Given the description of an element on the screen output the (x, y) to click on. 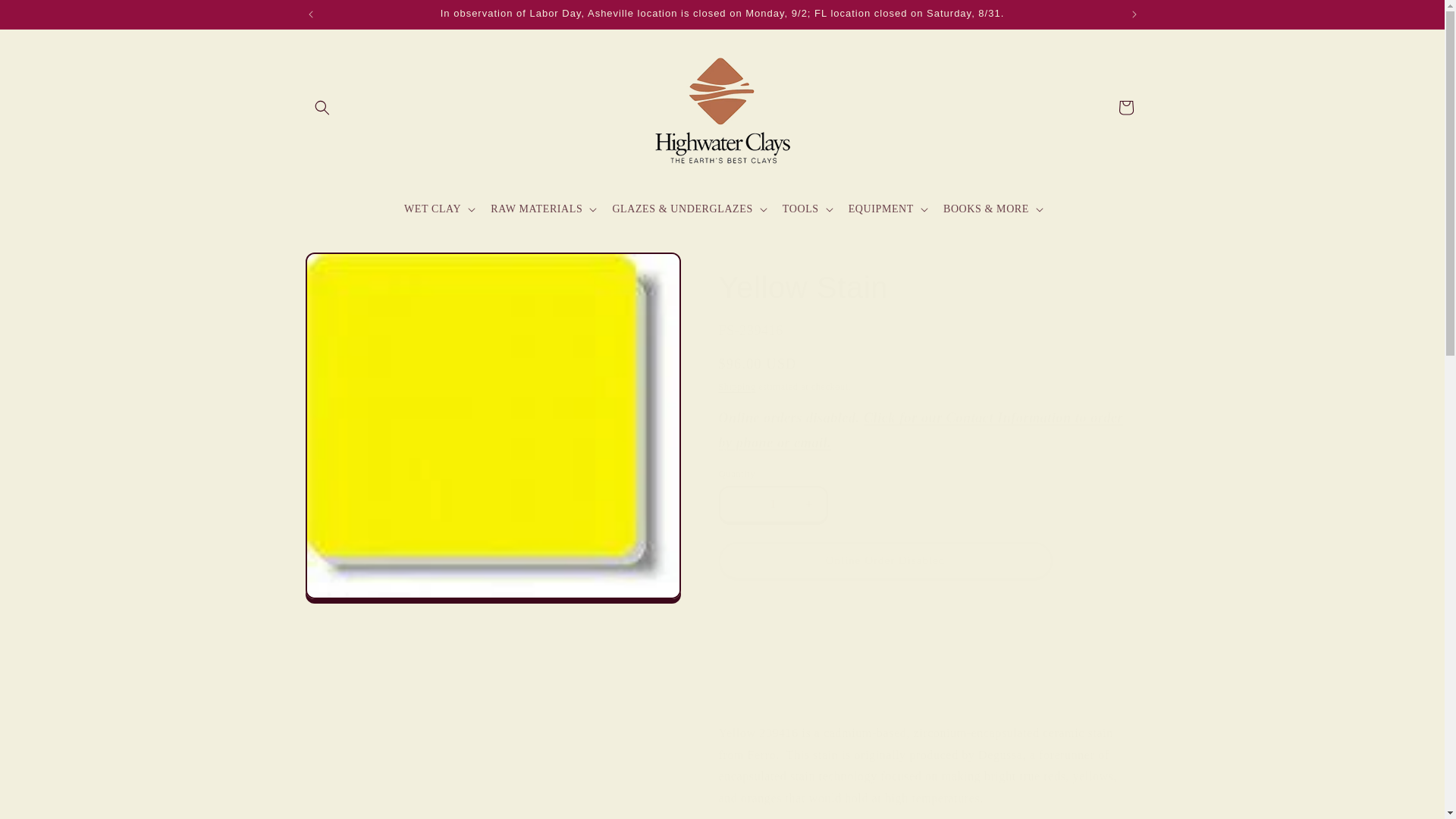
Open media 1 in modal (491, 425)
Contact Us (921, 429)
1 (773, 504)
Skip to content (46, 18)
